Given the description of an element on the screen output the (x, y) to click on. 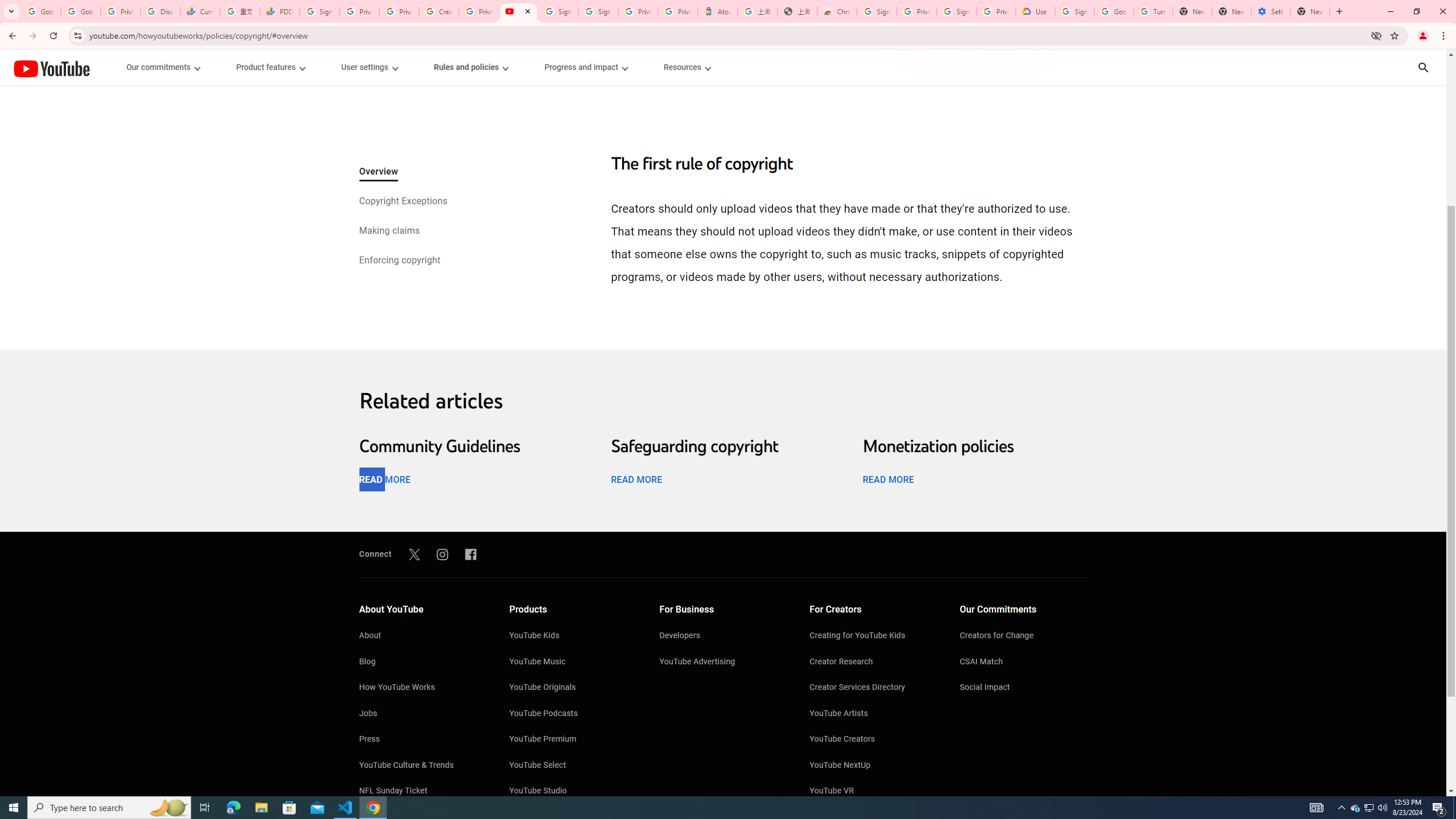
YouTube VR (873, 791)
YouTube Podcasts (573, 714)
Third-party cookies blocked (1376, 35)
Atour Hotel - Google hotels (717, 11)
Twitter (413, 553)
Creator Services Directory (873, 687)
YouTube Music (573, 662)
Overview (377, 172)
Sign in - Google Accounts (956, 11)
